Given the description of an element on the screen output the (x, y) to click on. 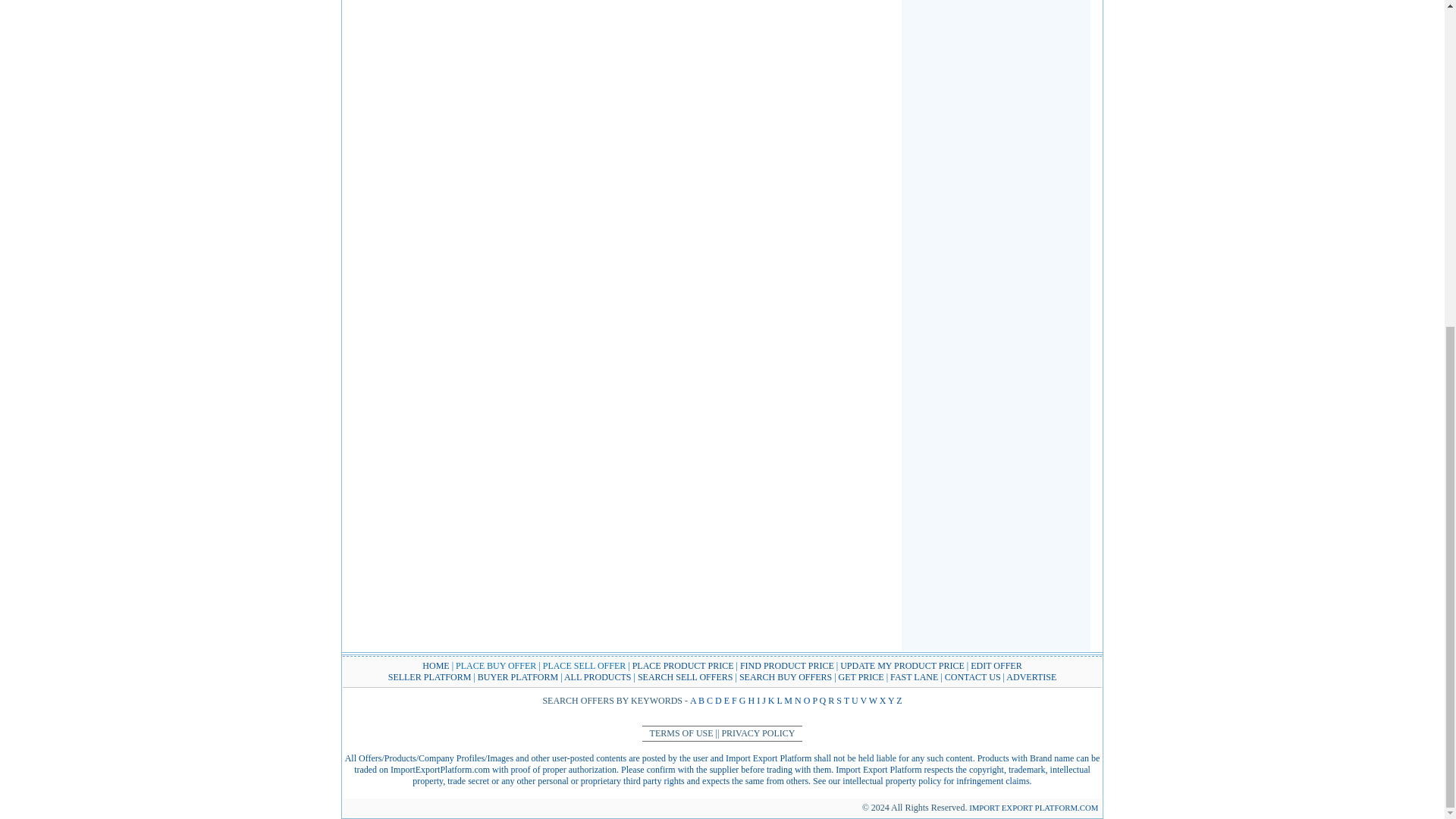
HOME (435, 665)
PLACE SELL OFFER (585, 665)
PLACE BUY OFFER (495, 665)
